Given the description of an element on the screen output the (x, y) to click on. 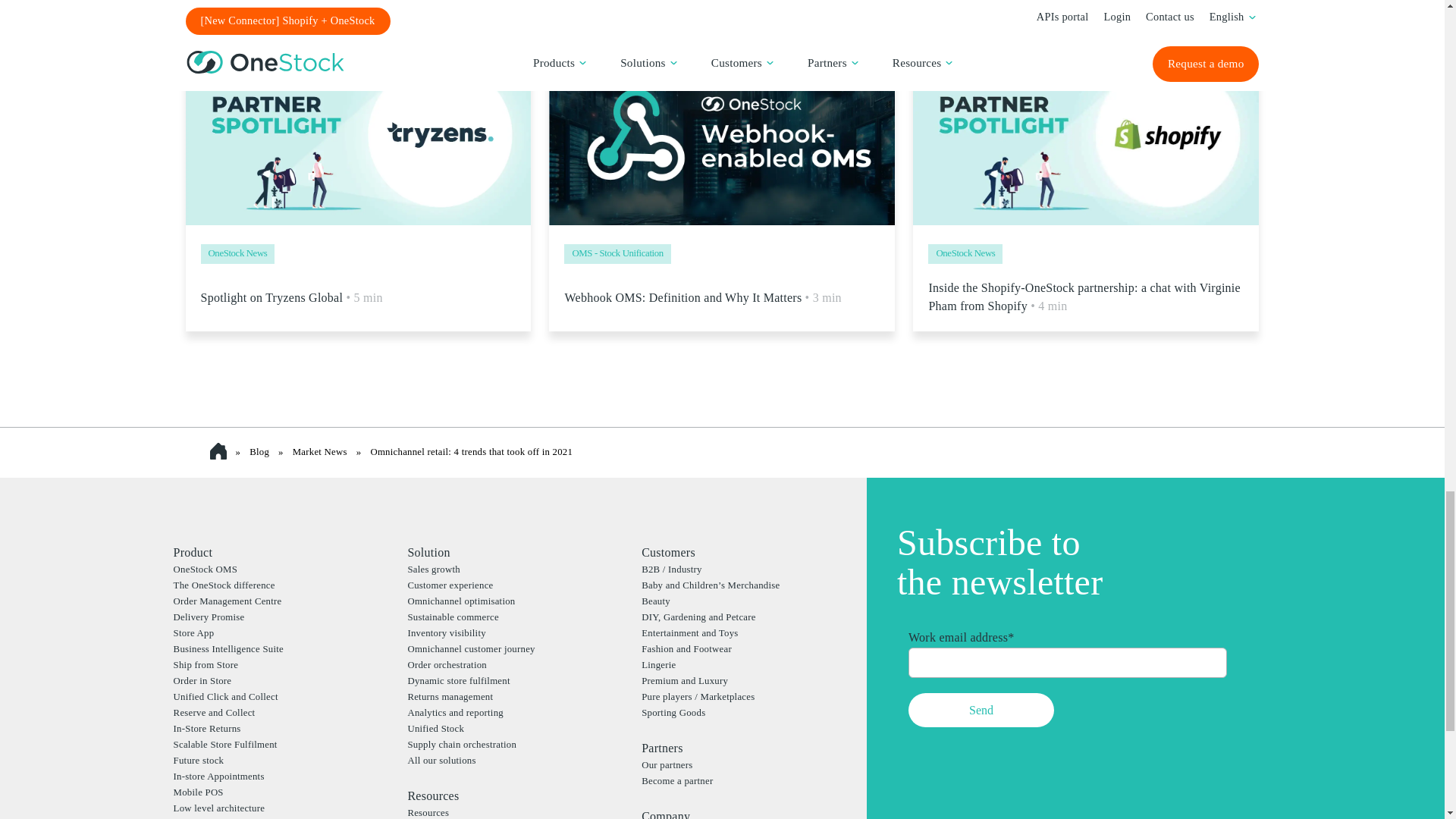
Market News (319, 451)
Webhook OMS: Definition and Why It Matters (721, 135)
Webhook OMS: Definition and Why It Matters (702, 298)
Send (981, 710)
Spotlight on Tryzens Global (357, 135)
Spotlight on Tryzens Global (290, 298)
Home (220, 451)
Blog (258, 451)
